Given the description of an element on the screen output the (x, y) to click on. 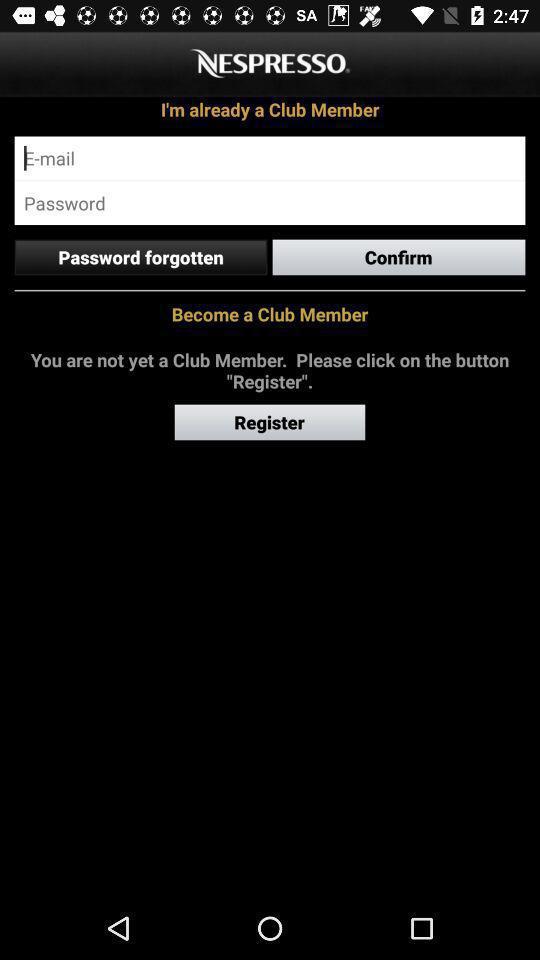
press icon to the left of the confirm (140, 257)
